Given the description of an element on the screen output the (x, y) to click on. 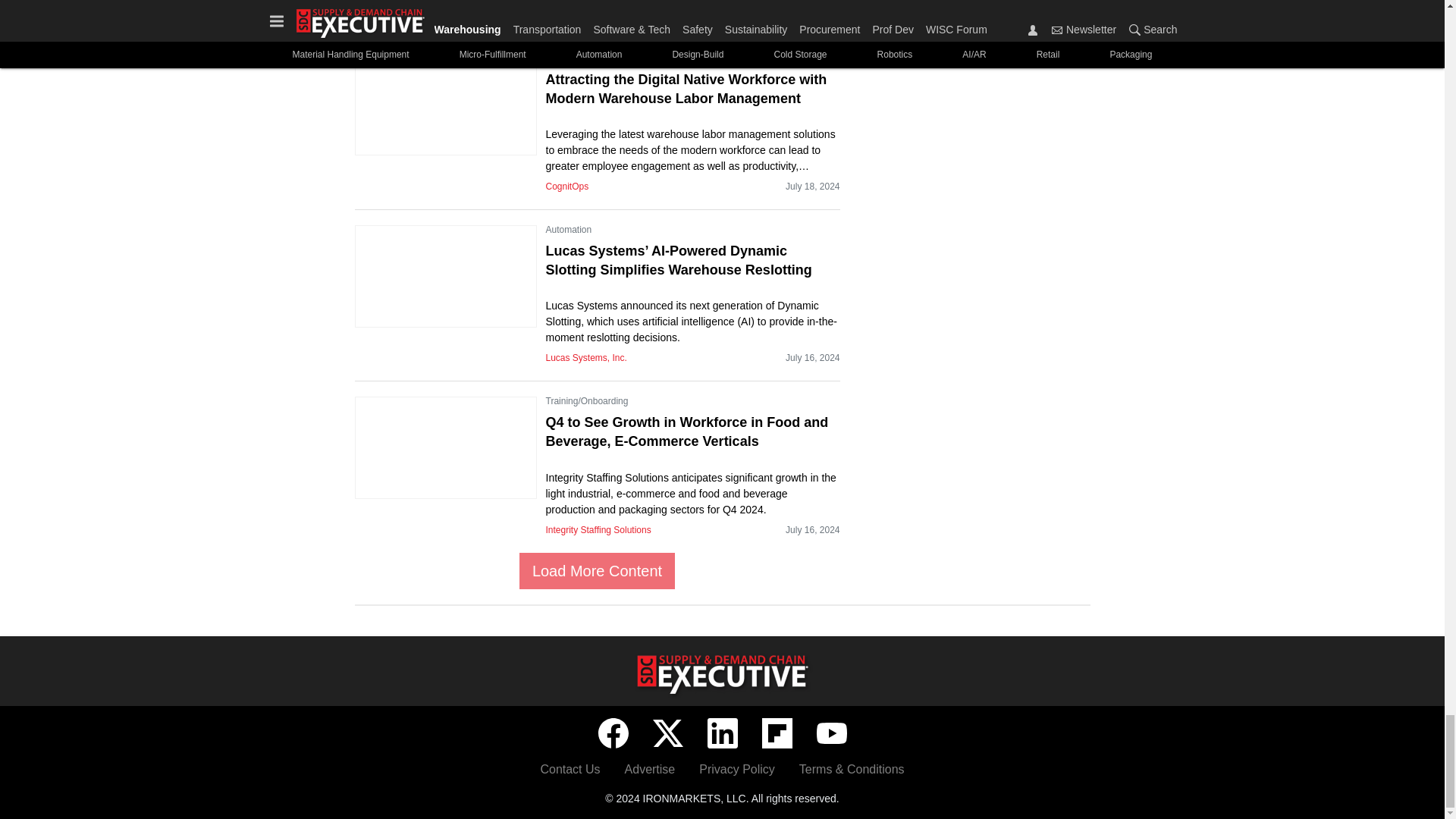
YouTube icon (830, 733)
LinkedIn icon (721, 733)
Flipboard icon (776, 733)
Facebook icon (611, 733)
Twitter X icon (667, 733)
